Given the description of an element on the screen output the (x, y) to click on. 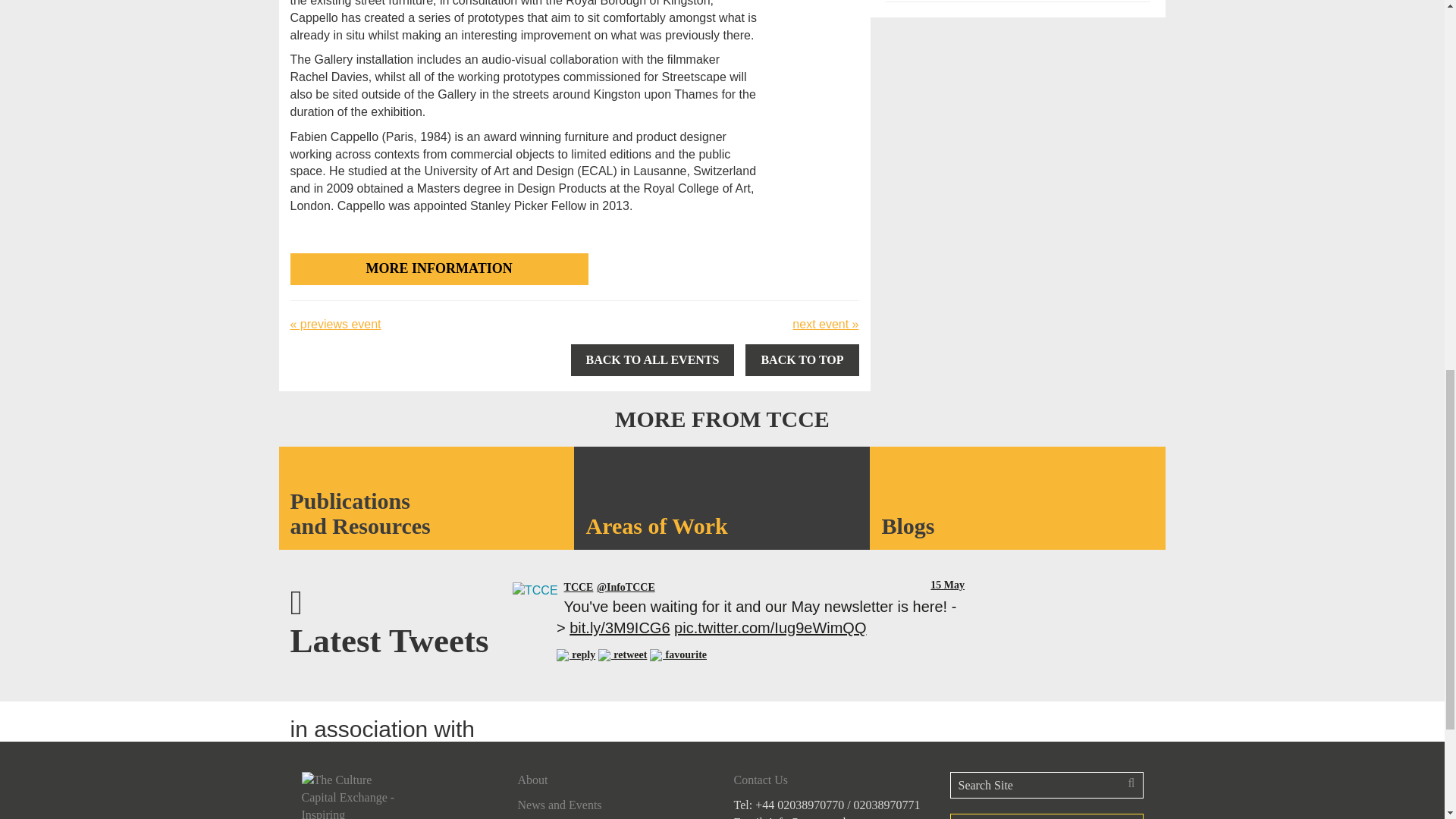
TCCE (579, 586)
reply (575, 654)
retweet (622, 654)
favourite (677, 654)
TCCE (534, 587)
TCCE (625, 586)
